Given the description of an element on the screen output the (x, y) to click on. 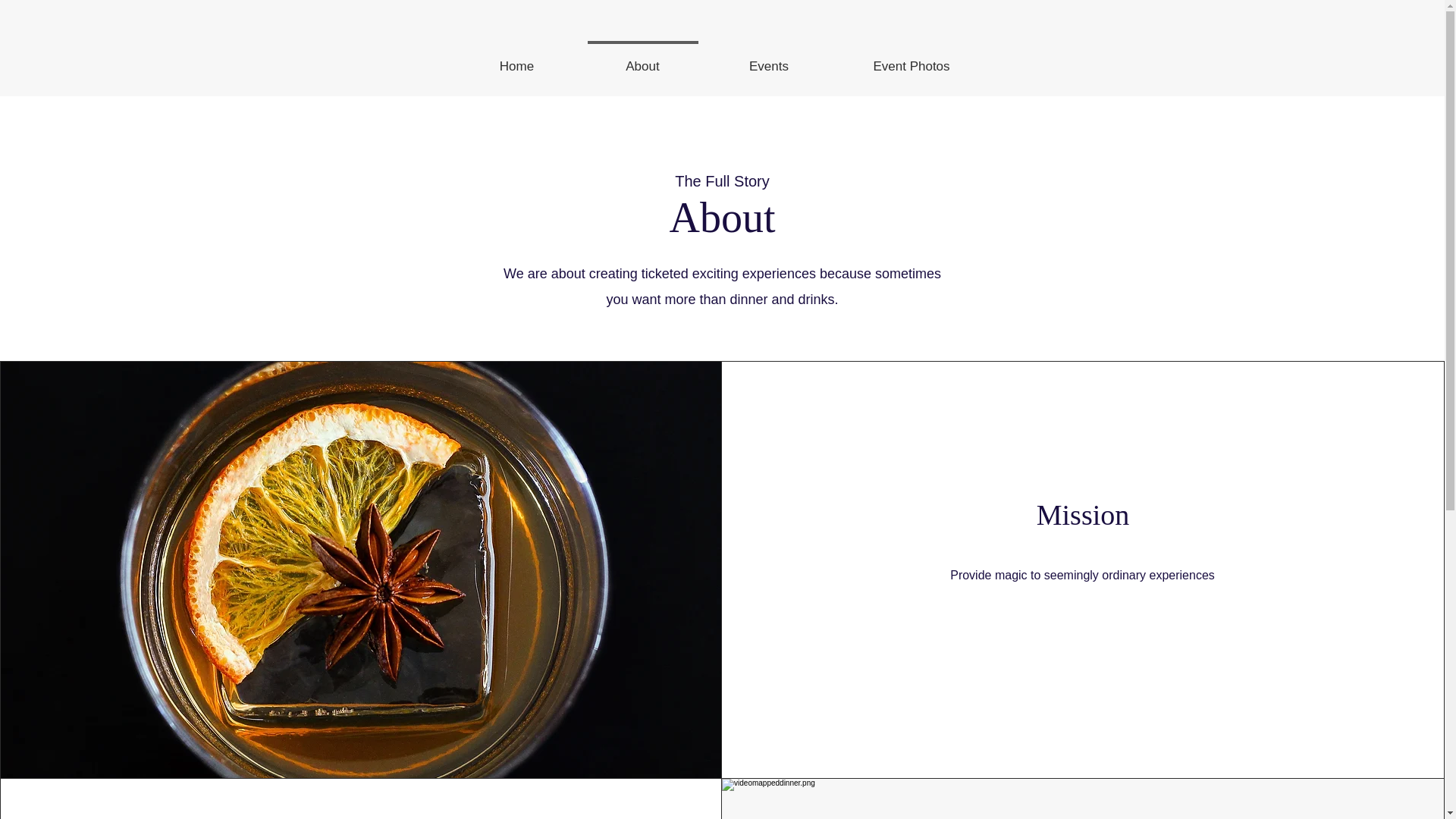
About (641, 59)
Event Photos (911, 59)
Home (515, 59)
Events (767, 59)
